Given the description of an element on the screen output the (x, y) to click on. 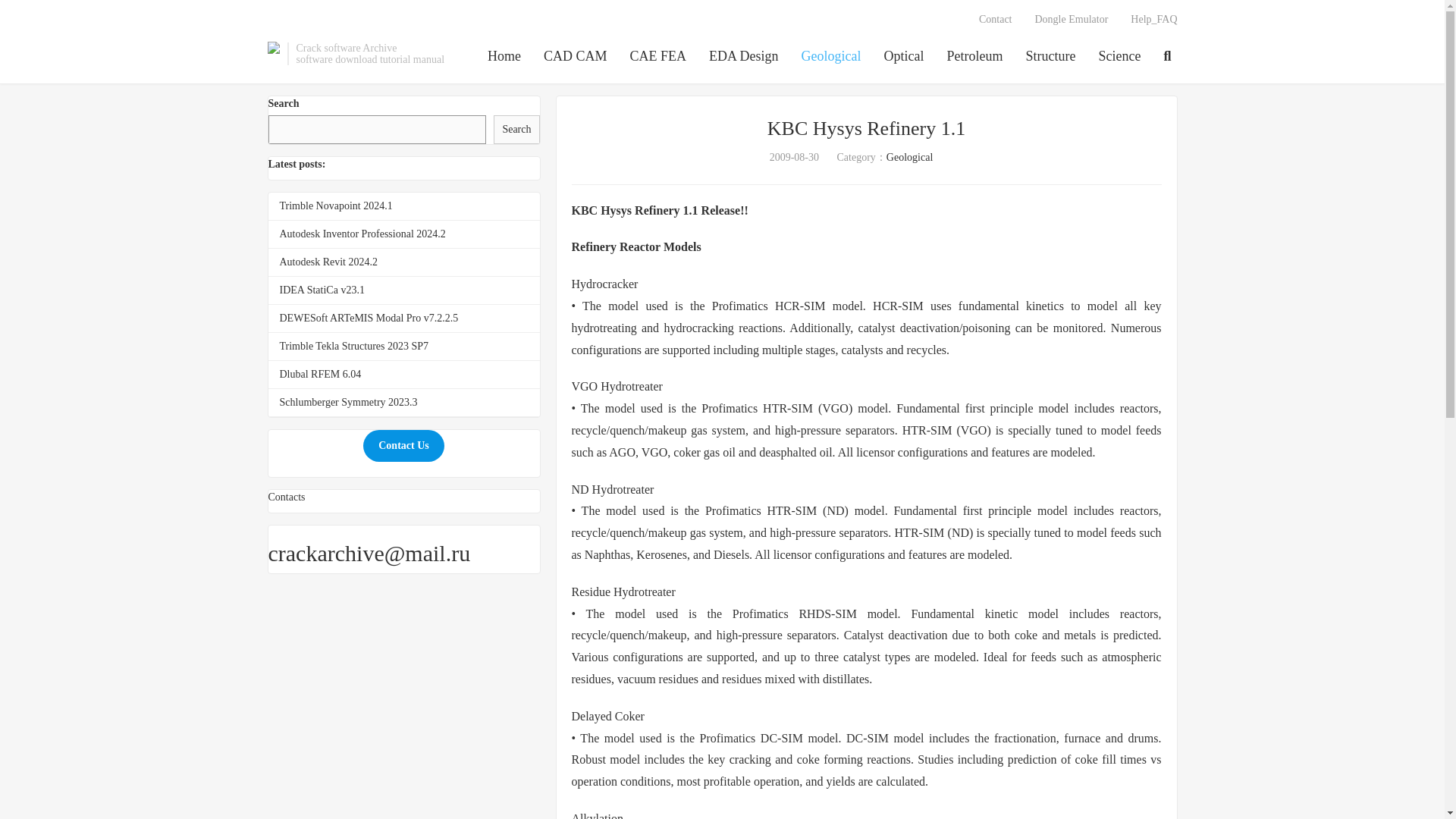
Dongle Emulator (1070, 19)
DEWESoft ARTeMIS Modal Pro v7.2.2.5 (368, 317)
Contact Us (403, 445)
Geological (831, 56)
Contact (994, 19)
IDEA StatiCa v23.1 (321, 289)
Science (1120, 56)
EDA Design (743, 56)
Schlumberger Symmetry 2023.3 (347, 401)
Petroleum (975, 56)
Autodesk Revit 2024.2 (328, 261)
Geological (909, 156)
Trimble Novapoint 2024.1 (335, 205)
Search (515, 129)
Dlubal RFEM 6.04 (320, 374)
